Given the description of an element on the screen output the (x, y) to click on. 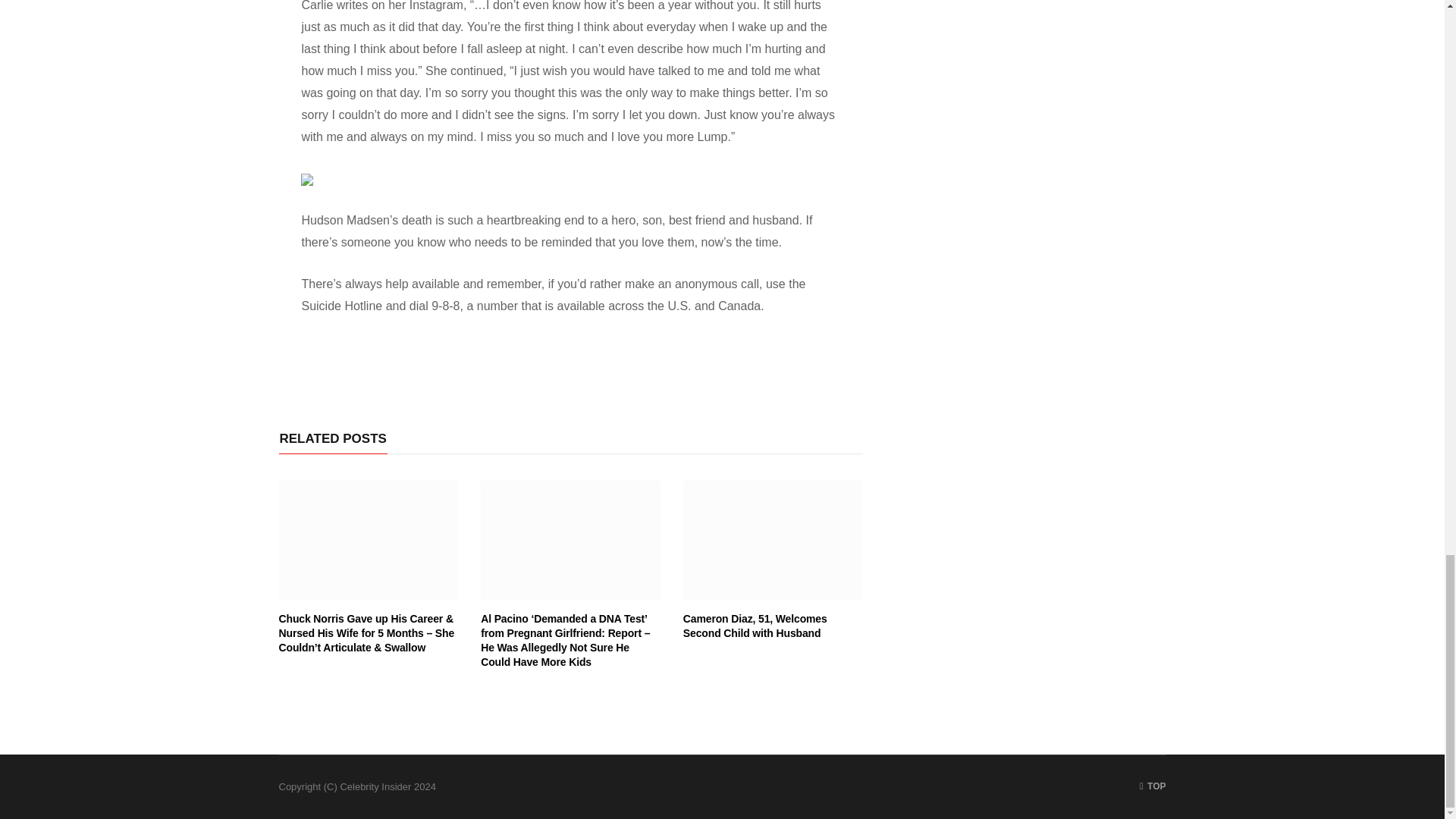
Cameron Diaz, 51, Welcomes Second Child with Husband (772, 540)
Cameron Diaz, 51, Welcomes Second Child with Husband (754, 625)
